Given the description of an element on the screen output the (x, y) to click on. 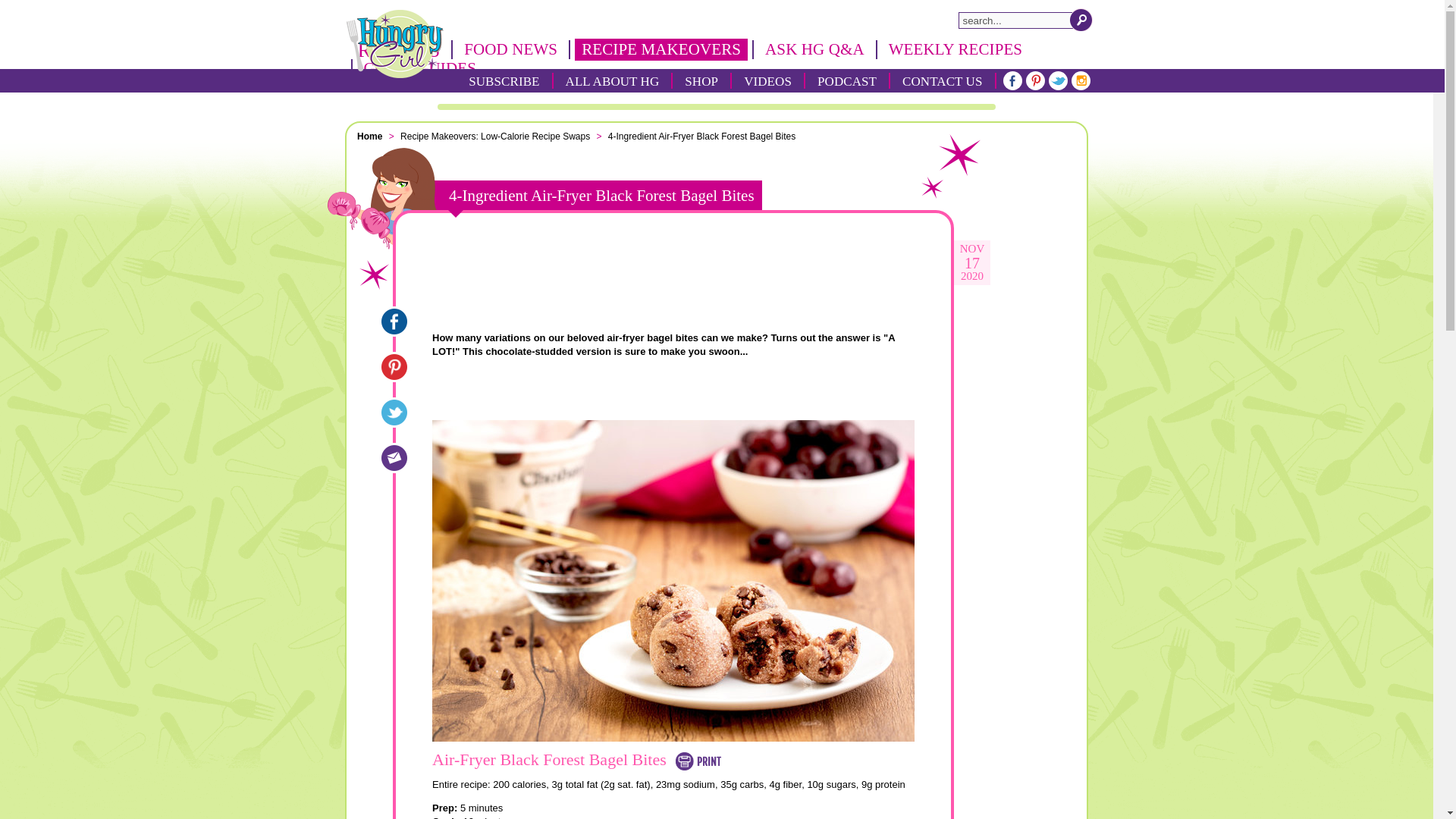
FOOD NEWS (510, 49)
Recipe Makeovers: Low-Calorie Recipe Swaps (496, 136)
WEEKLY RECIPES (955, 49)
Sign up for free daily emails (672, 274)
SHOP (701, 80)
CONTACT US (941, 80)
RECIPE MAKEOVERS (661, 49)
Home (370, 136)
VIDEOS (767, 80)
RECIPES (398, 49)
GO-TO GUIDES (418, 68)
ALL ABOUT HG (612, 80)
PODCAST (847, 80)
SUBSCRIBE (503, 80)
